Given the description of an element on the screen output the (x, y) to click on. 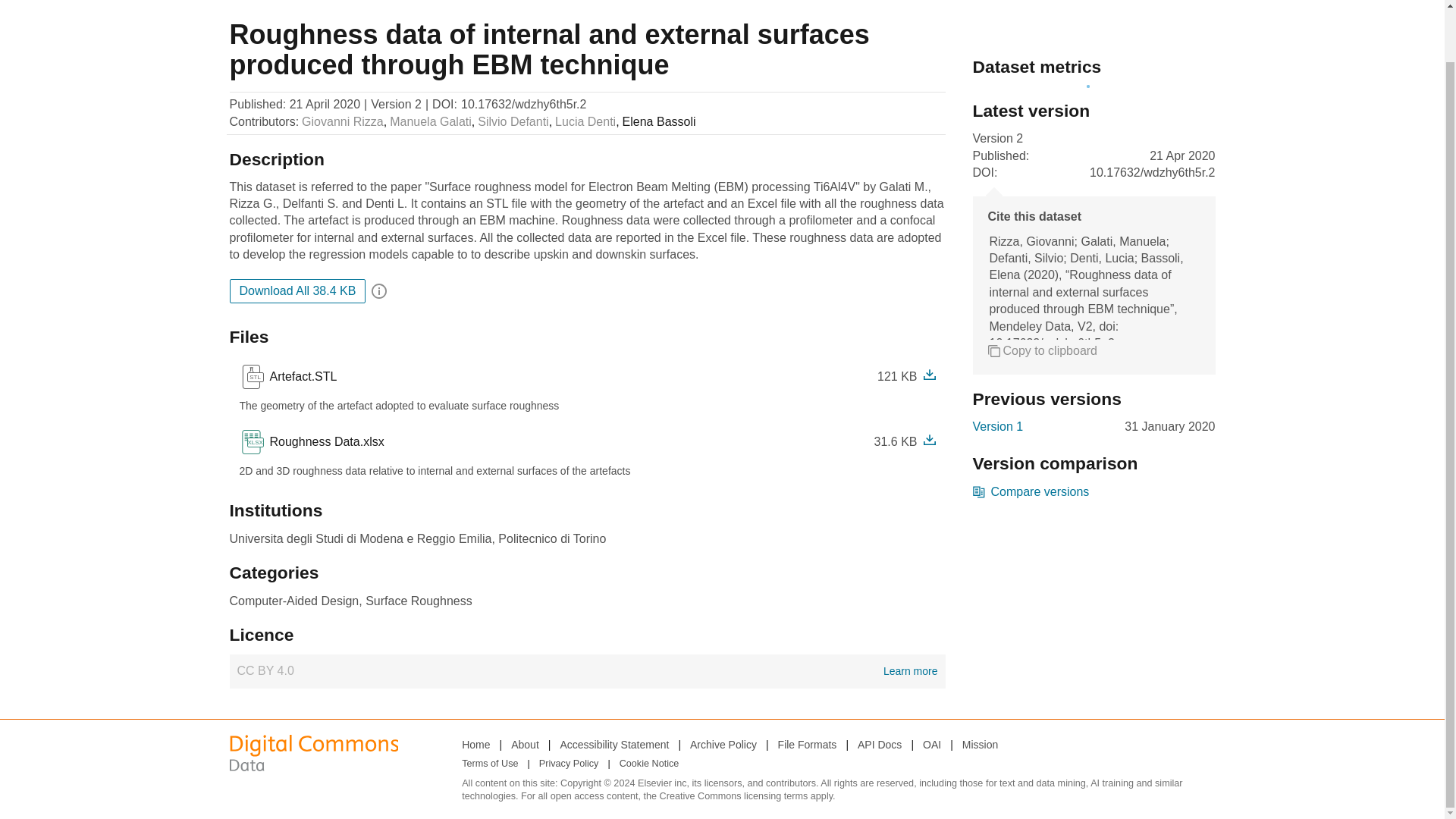
Silvio Defanti (312, 441)
Lucia Denti (512, 121)
Download All 38.4 KB (584, 121)
File Formats (296, 291)
Roughness Data.xlsx (807, 744)
Artefact.STL (323, 442)
Home (300, 376)
API Docs (475, 744)
Compare versions (879, 744)
